Given the description of an element on the screen output the (x, y) to click on. 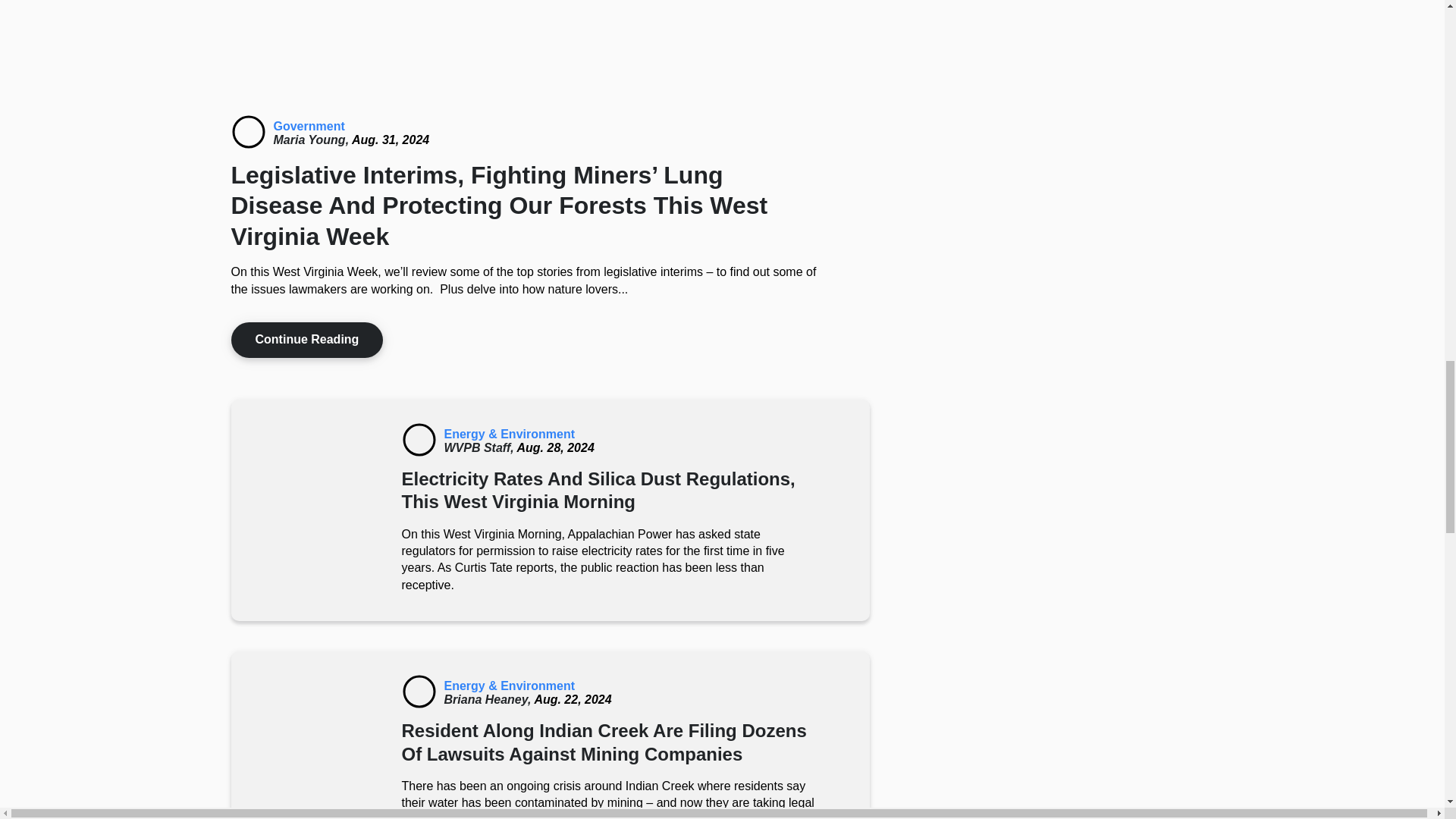
WVPB Staff (480, 447)
Maria Young (311, 139)
